Given the description of an element on the screen output the (x, y) to click on. 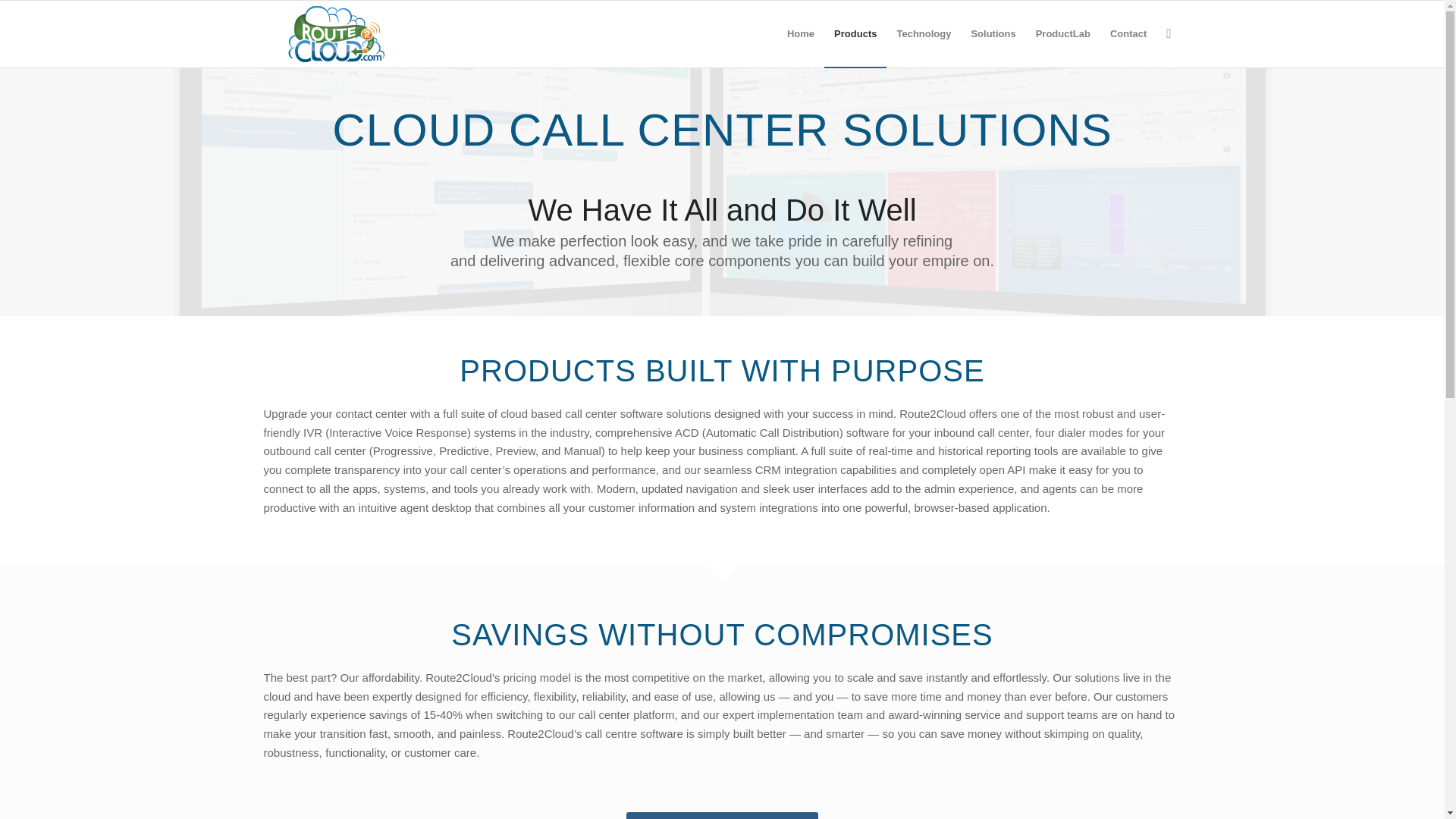
UPGRADE AND SAVE (721, 815)
Solutions (992, 33)
ProductLab (1063, 33)
Products (855, 33)
Technology (923, 33)
r2c-logo (336, 33)
